Given the description of an element on the screen output the (x, y) to click on. 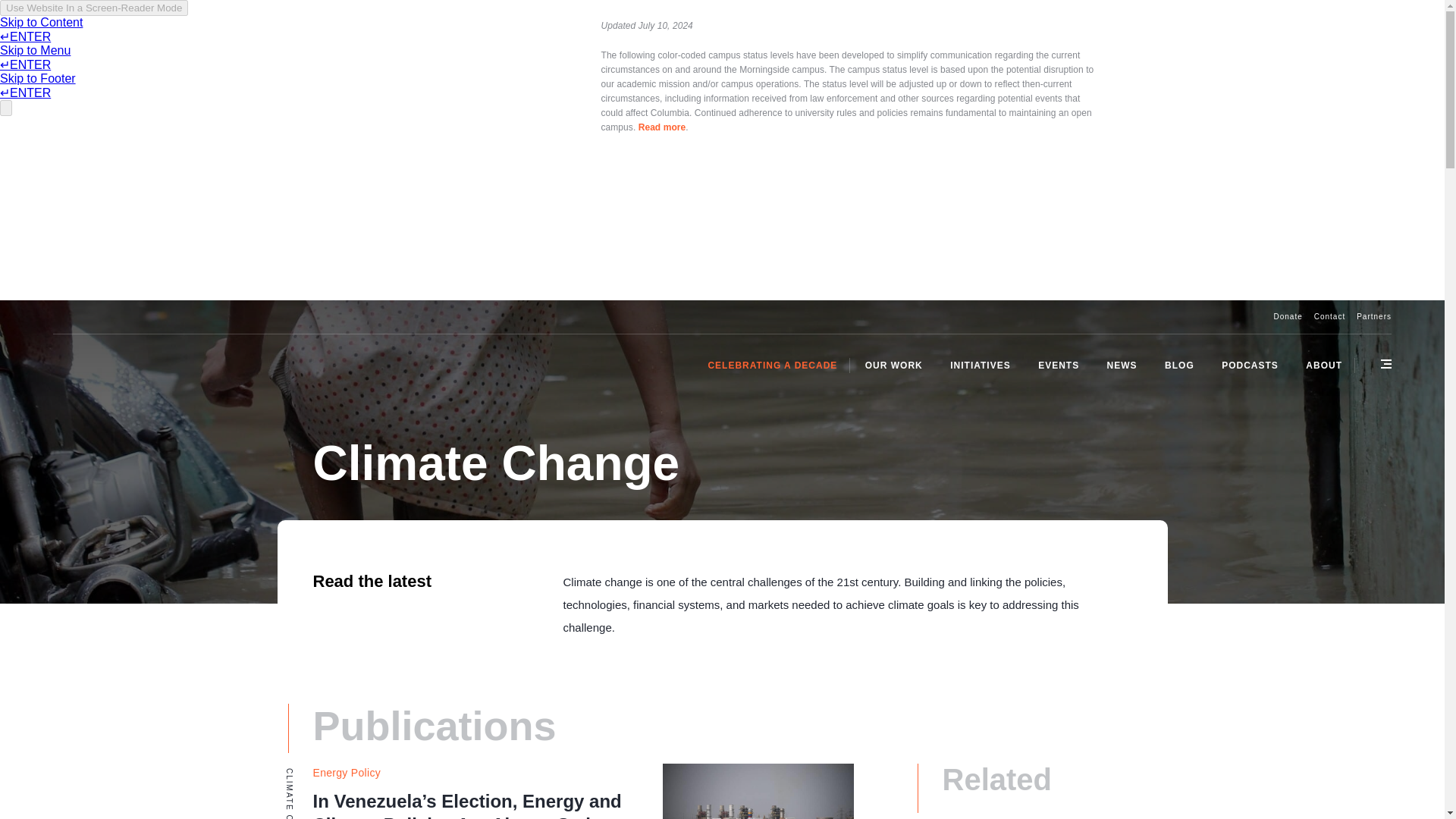
Contact (1329, 316)
INITIATIVES (979, 364)
Donate (1286, 316)
ABOUT (1324, 364)
BLOG (1180, 364)
Partners (1373, 316)
Read more (662, 127)
CELEBRATING A DECADE (771, 364)
OUR WORK (893, 364)
PODCASTS (1249, 364)
NEWS (1122, 364)
EVENTS (1058, 364)
